Given the description of an element on the screen output the (x, y) to click on. 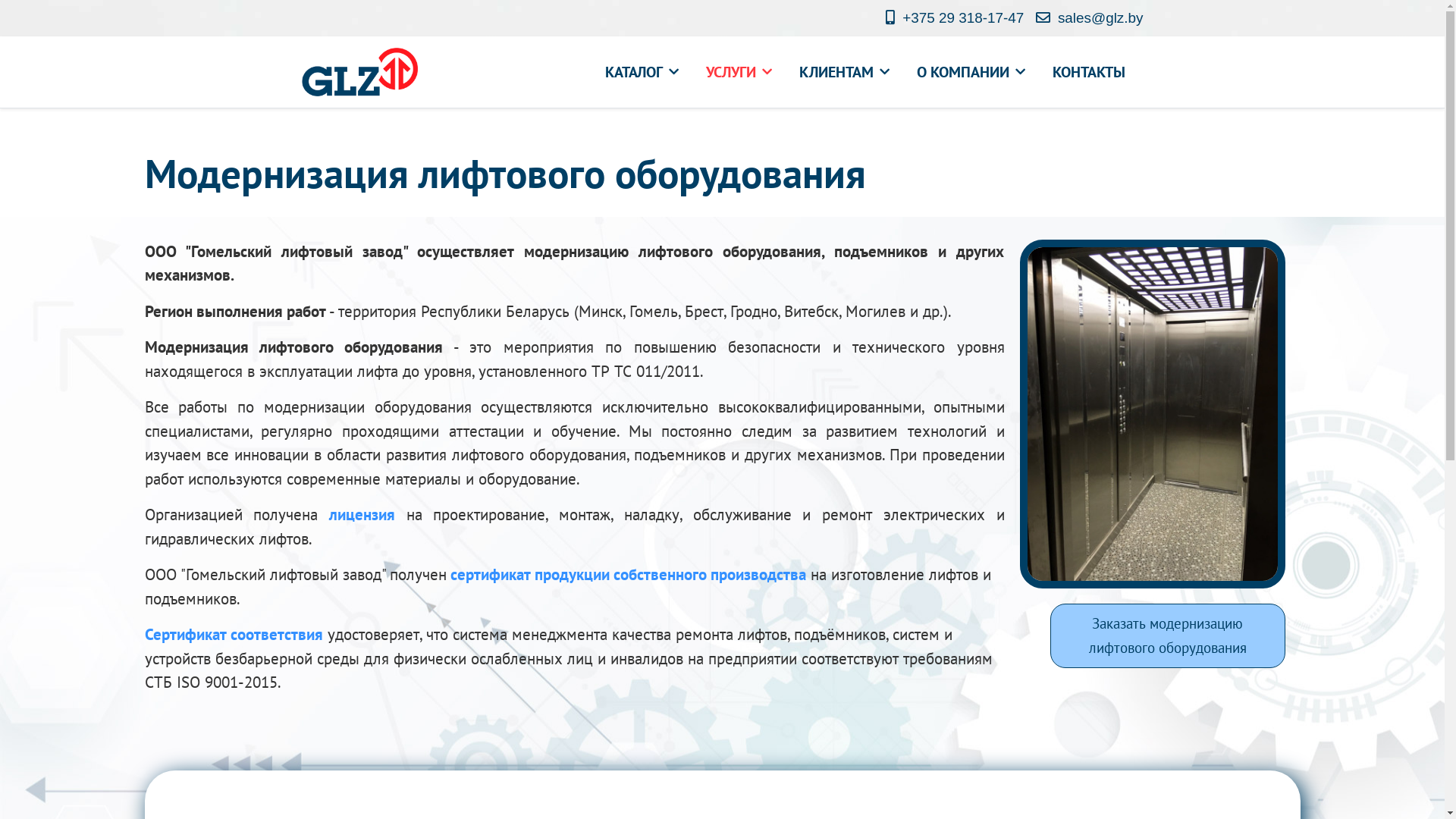
+375 29 318-17-47 Element type: text (962, 17)
sales@glz.by Element type: text (1100, 17)
